Given the description of an element on the screen output the (x, y) to click on. 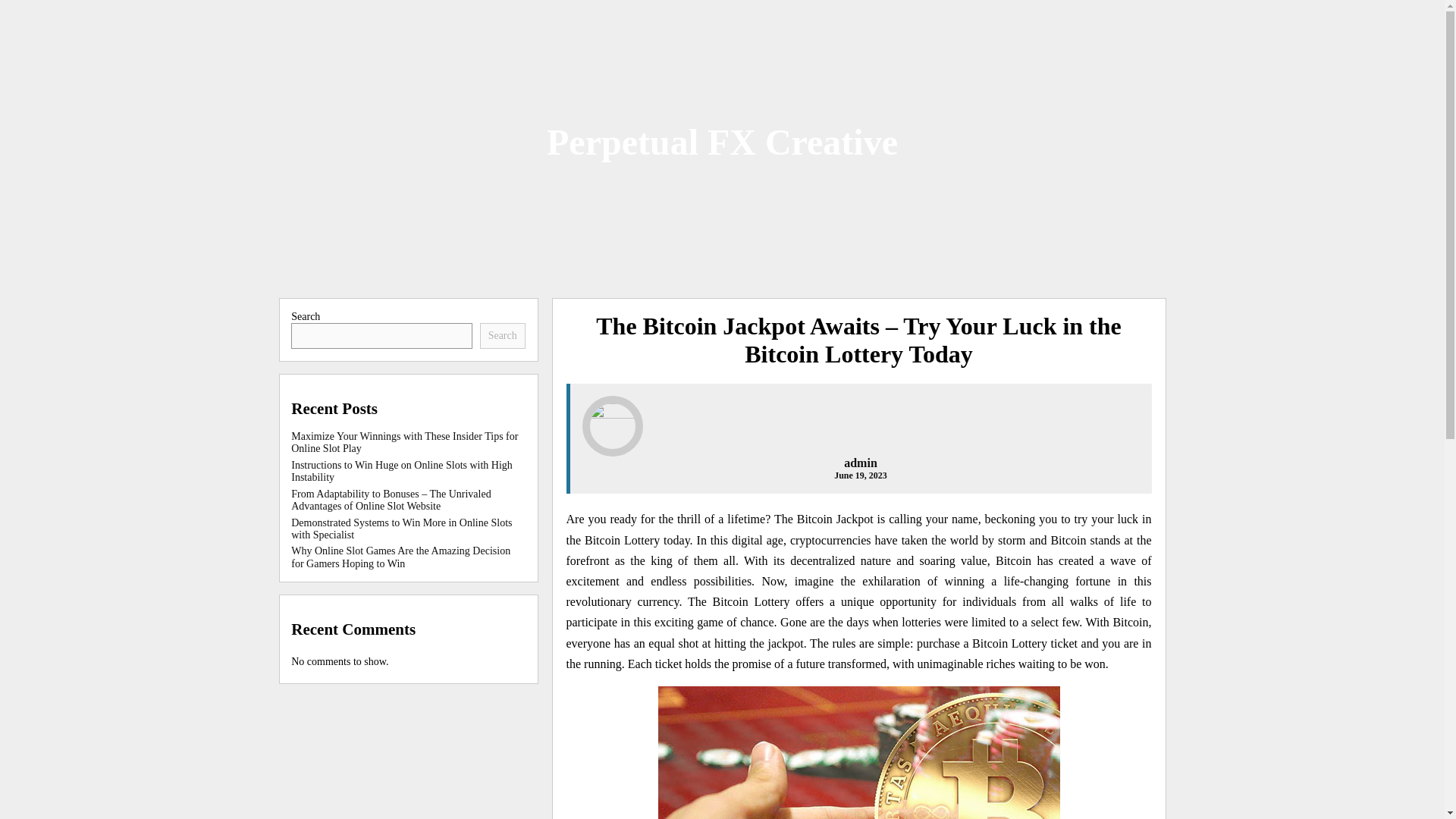
admin (860, 462)
View all posts by admin (860, 462)
12:07 pm (860, 475)
Perpetual FX Creative (722, 142)
June 19, 2023 (860, 475)
Search (502, 335)
